Given the description of an element on the screen output the (x, y) to click on. 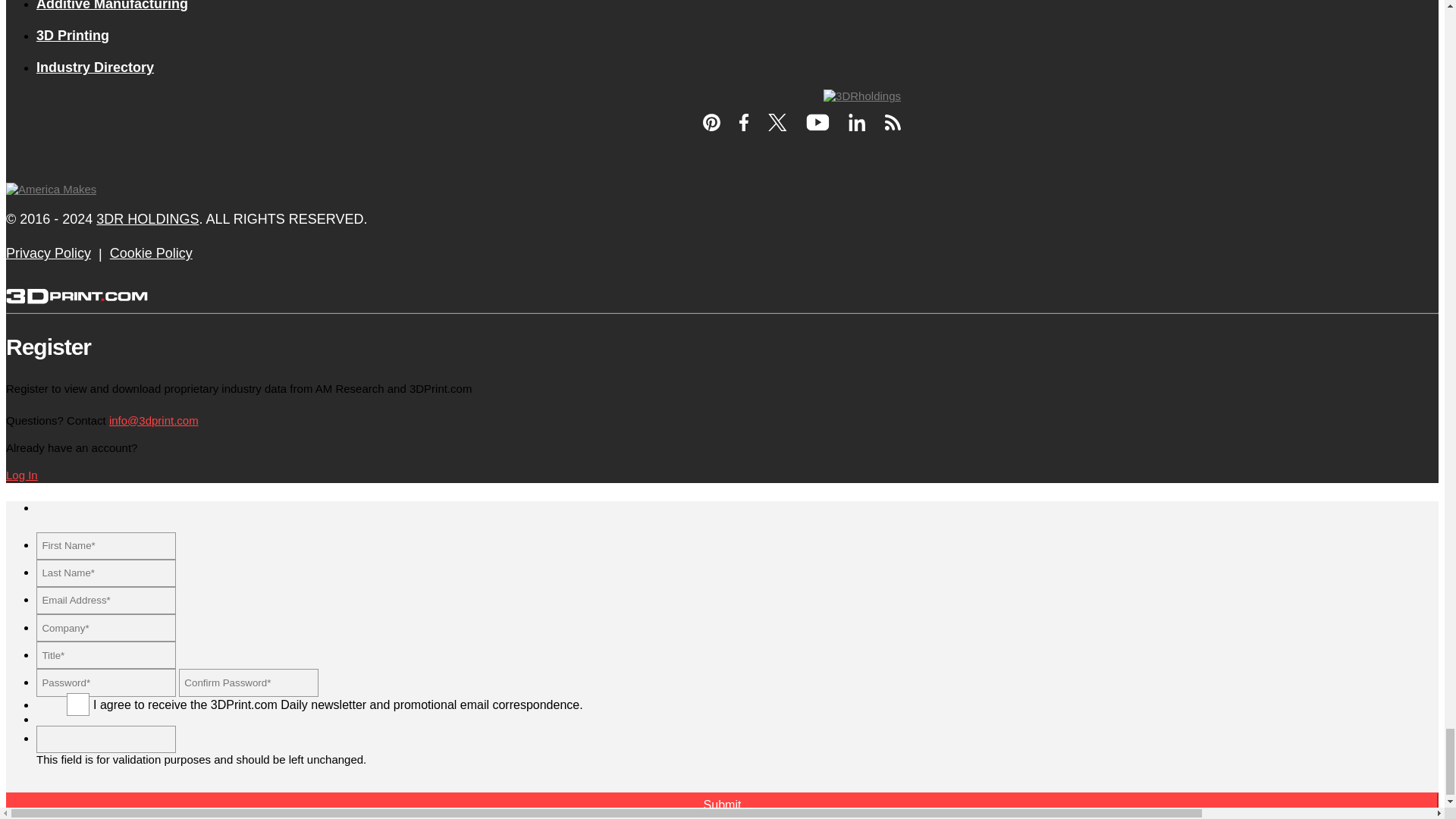
Submit (721, 805)
